Given the description of an element on the screen output the (x, y) to click on. 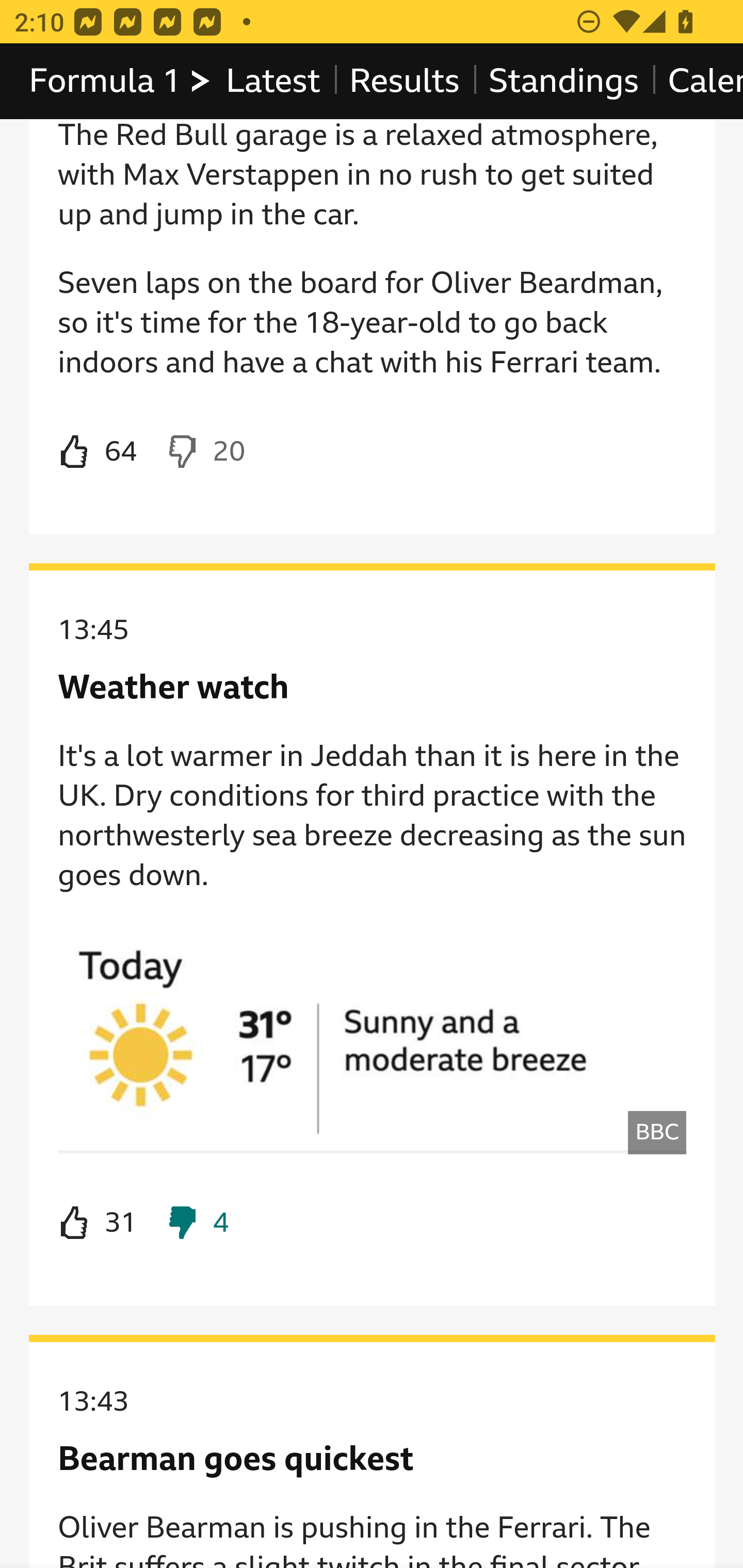
Like (97, 452)
Dislike (204, 452)
Like (97, 1224)
Disliked (196, 1224)
